Given the description of an element on the screen output the (x, y) to click on. 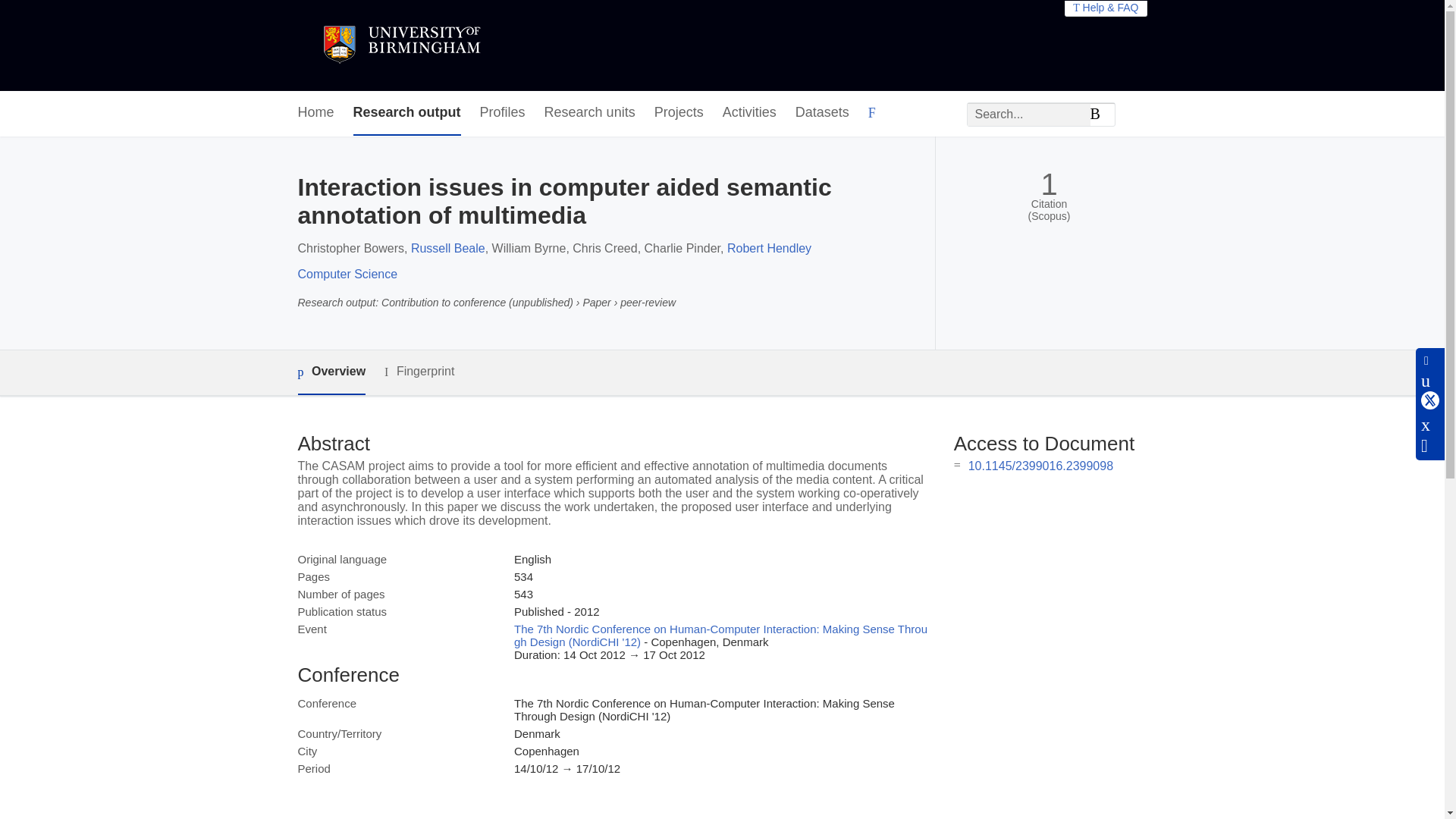
Activities (749, 112)
Research output (407, 112)
Computer Science (347, 273)
Russell Beale (447, 247)
Robert Hendley (768, 247)
Overview (331, 372)
University of Birmingham Home (401, 45)
Research units (589, 112)
Fingerprint (419, 371)
